Given the description of an element on the screen output the (x, y) to click on. 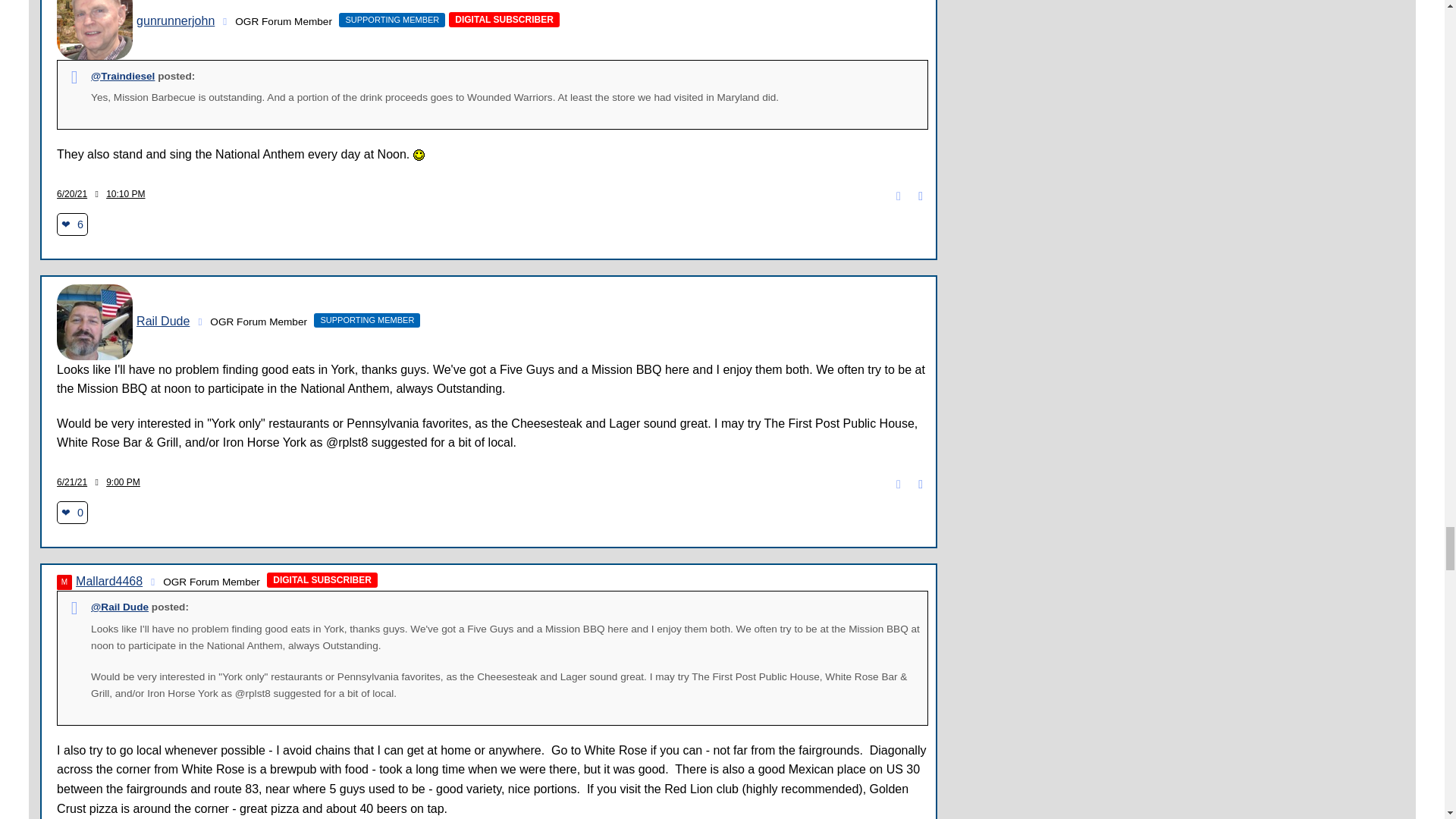
M (63, 581)
